Given the description of an element on the screen output the (x, y) to click on. 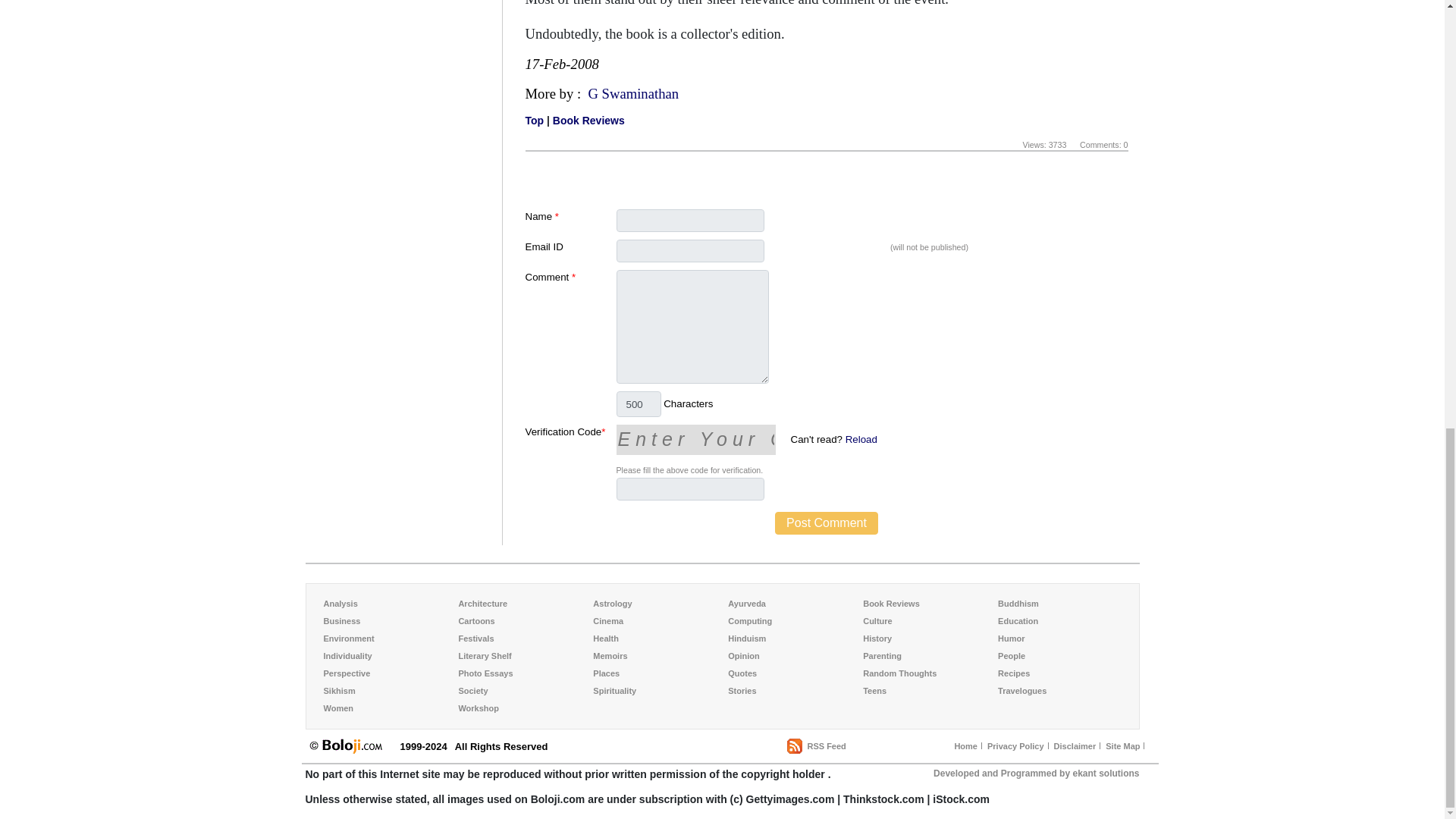
500 (638, 403)
Post Comment (825, 522)
